Given the description of an element on the screen output the (x, y) to click on. 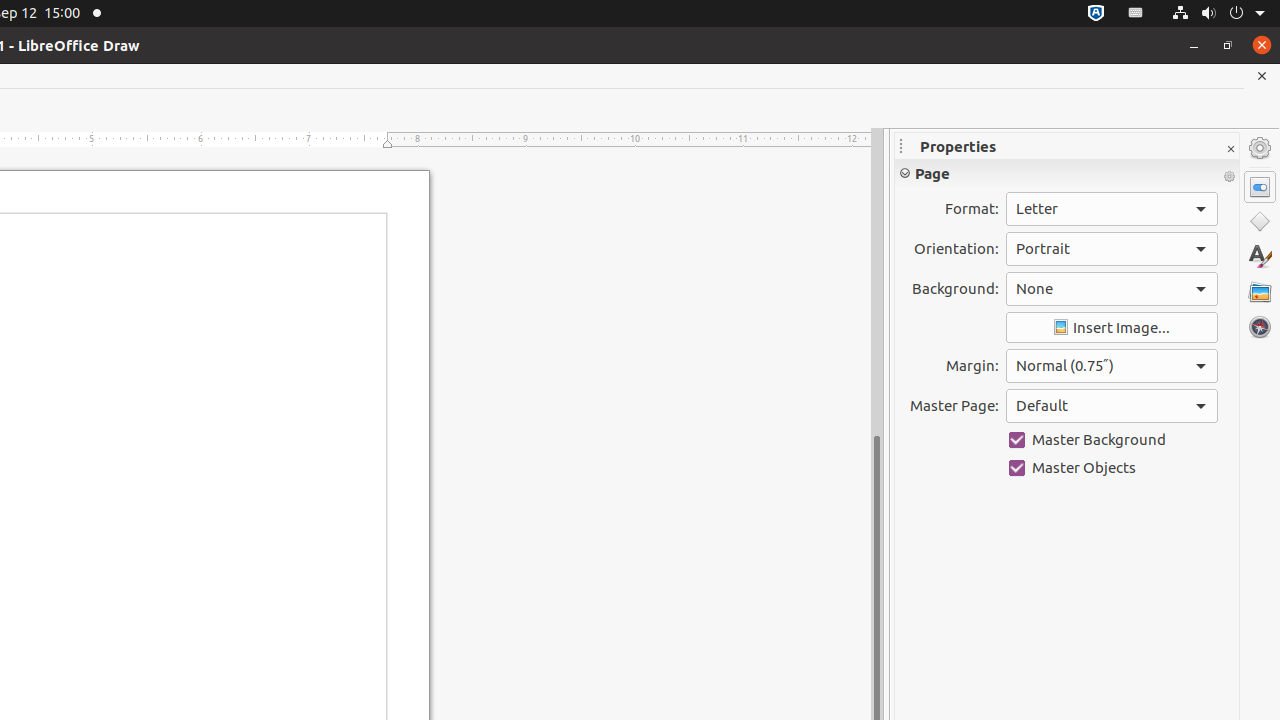
Properties Element type: radio-button (1260, 187)
:1.72/StatusNotifierItem Element type: menu (1096, 13)
Orientation: Element type: combo-box (1112, 249)
Margin: Element type: combo-box (1112, 366)
Format: Element type: combo-box (1112, 209)
